Given the description of an element on the screen output the (x, y) to click on. 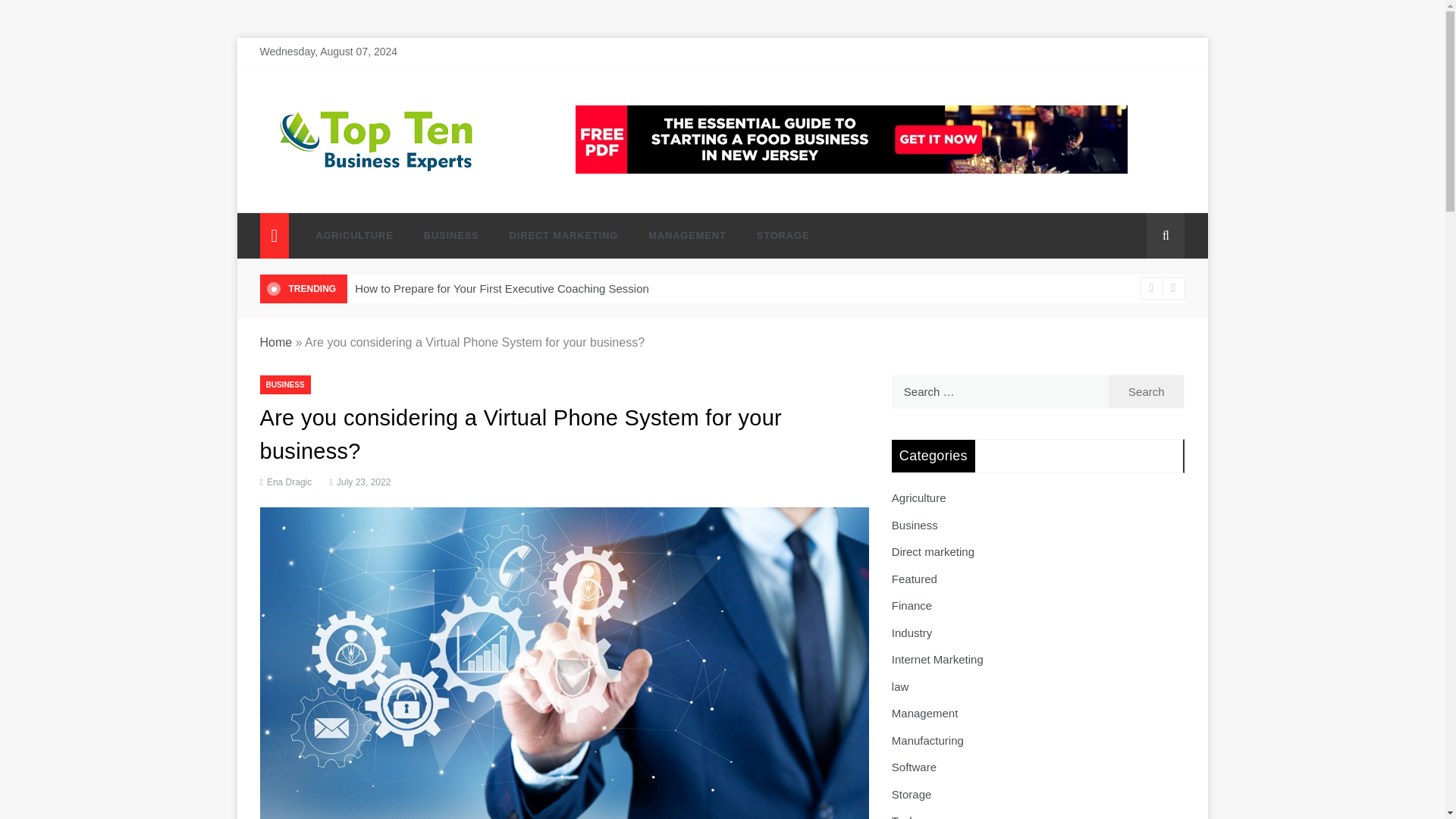
BUSINESS (284, 384)
Home (275, 341)
DIRECT MARKETING (564, 235)
Ena Dragic (288, 481)
Search (1146, 391)
STORAGE (775, 235)
MANAGEMENT (687, 235)
Search (1146, 391)
Top Ten Business Experts (387, 193)
BUSINESS (452, 235)
How to Prepare for Your First Executive Coaching Session (501, 288)
AGRICULTURE (353, 235)
July 23, 2022 (358, 481)
